Given the description of an element on the screen output the (x, y) to click on. 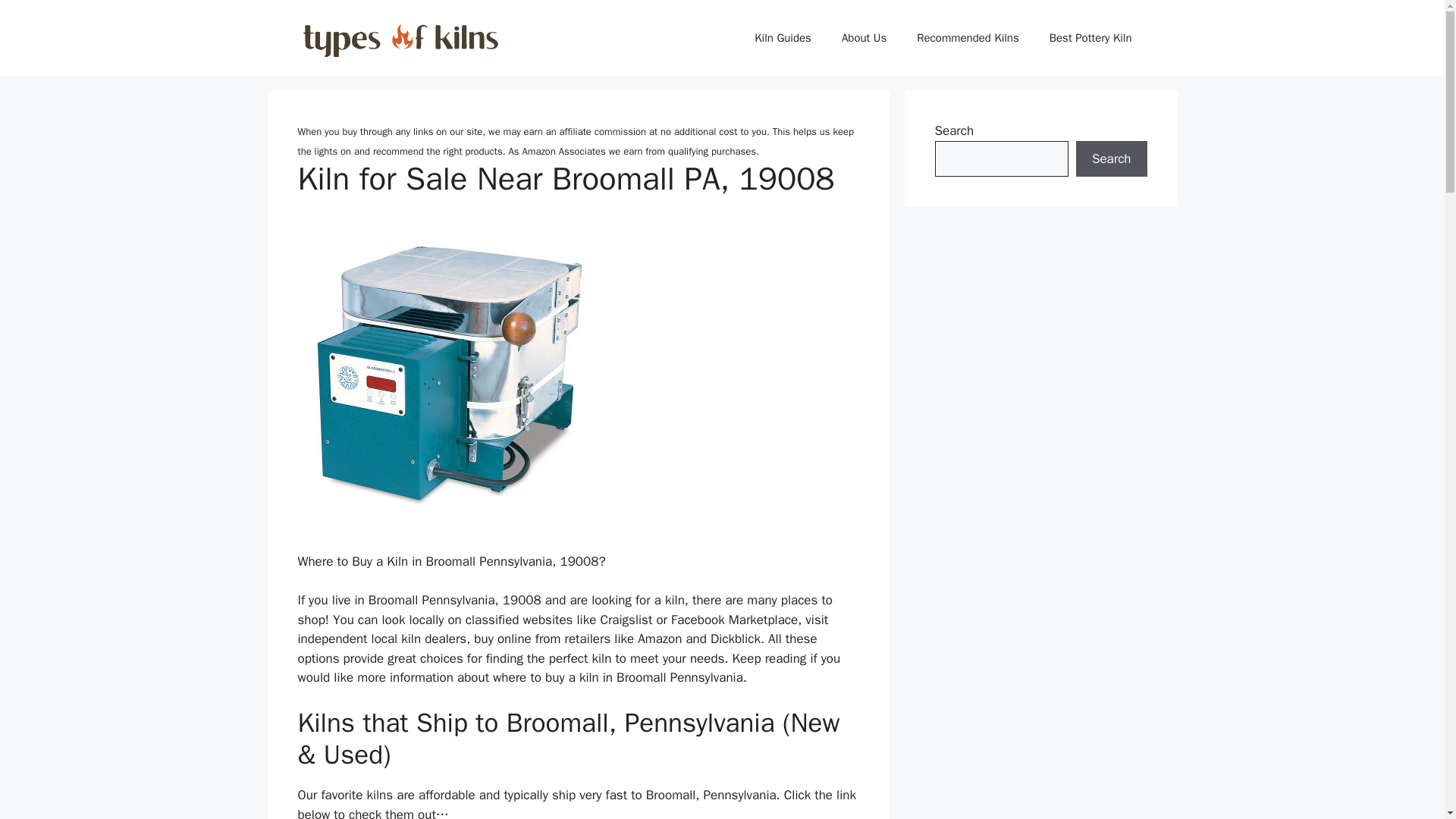
Recommended Kilns (967, 37)
About Us (864, 37)
Search (1111, 158)
Kiln Guides (783, 37)
Best Pottery Kiln (1090, 37)
